Given the description of an element on the screen output the (x, y) to click on. 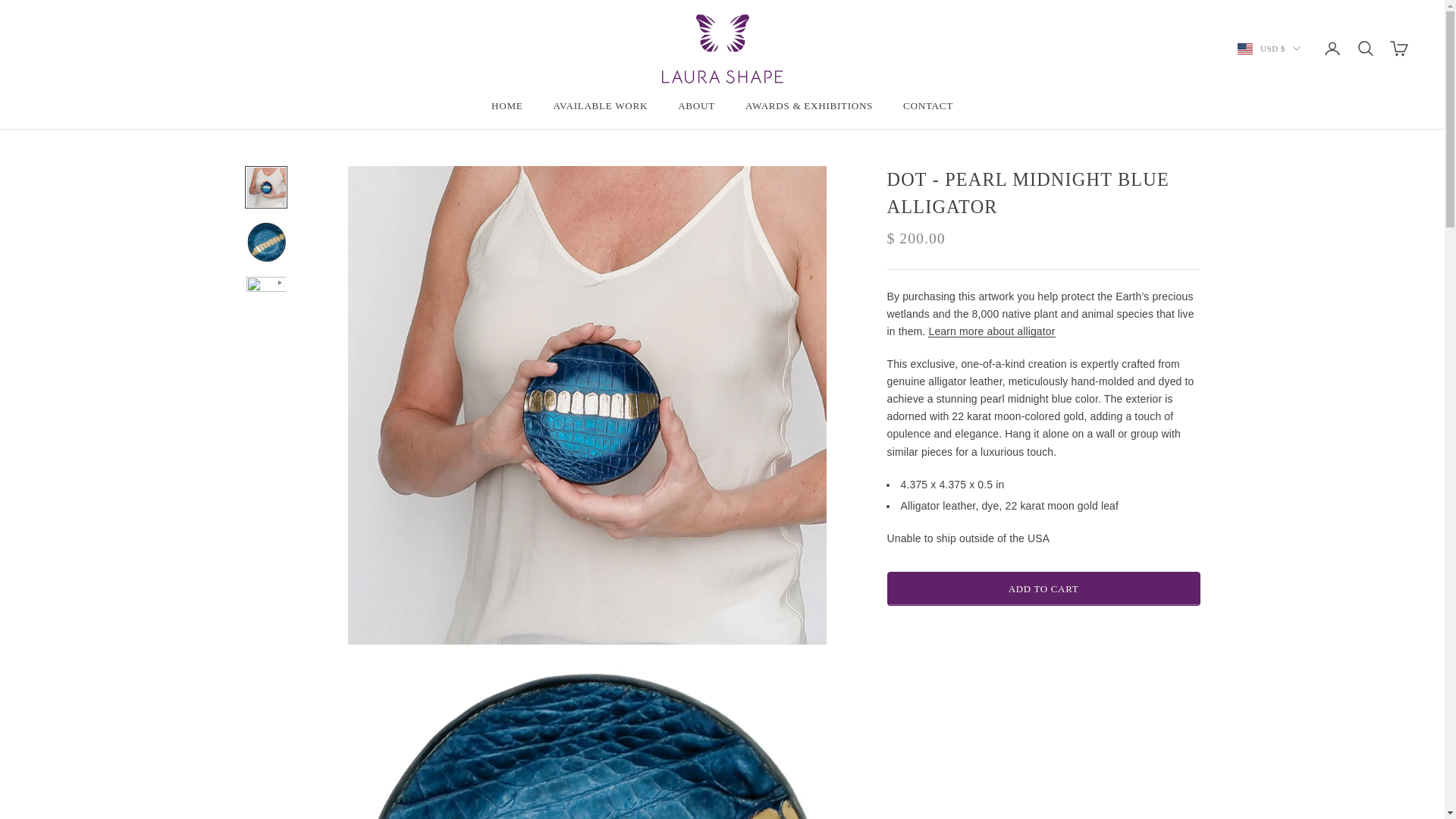
CONTACT (927, 105)
Laura Shape (722, 48)
About Alligator (991, 331)
HOME (507, 105)
